Given the description of an element on the screen output the (x, y) to click on. 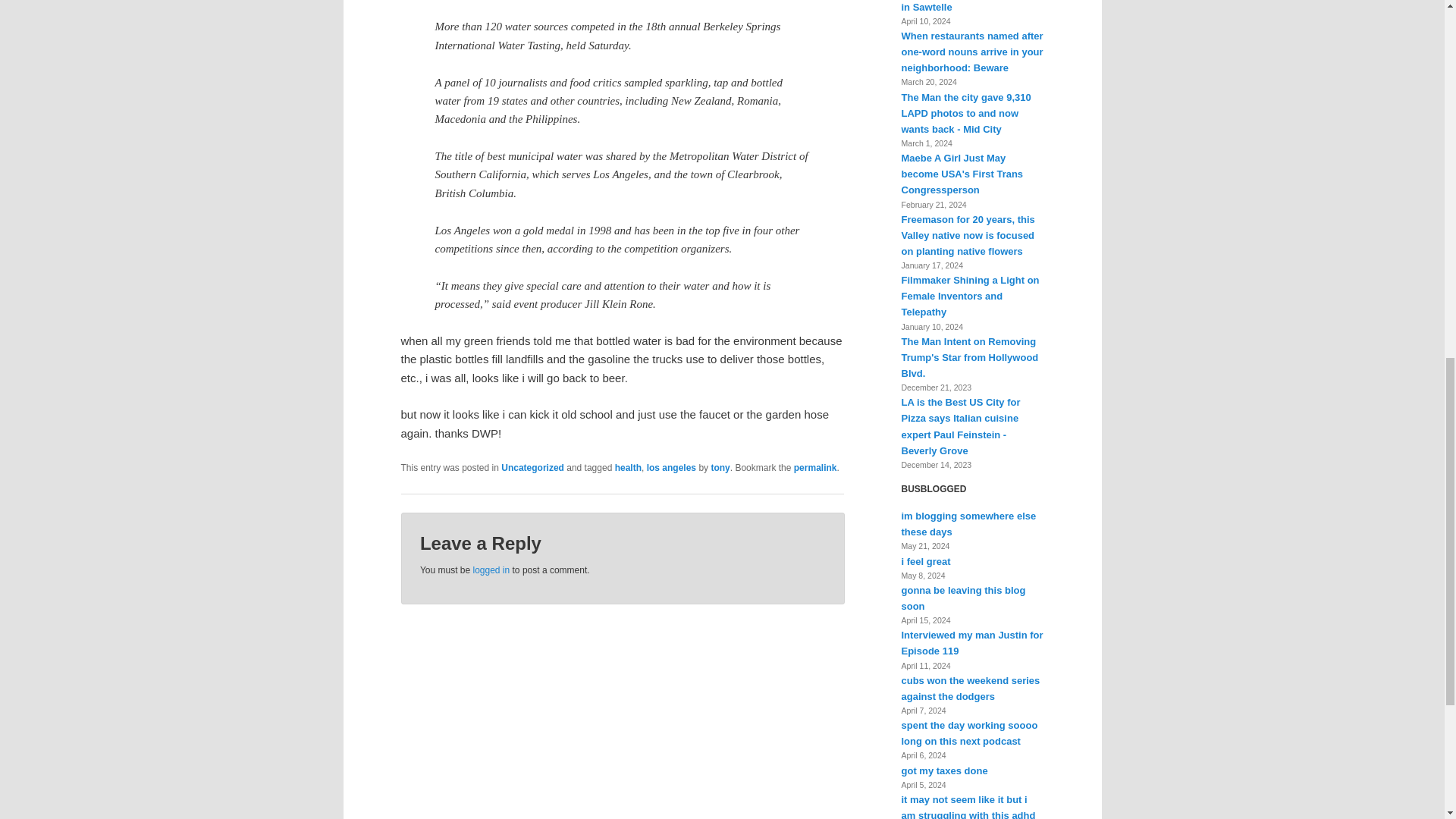
Permalink to cancel my Arrowhead subscription! (815, 467)
Uncategorized (532, 467)
los angeles (670, 467)
tony (719, 467)
logged in (490, 570)
health (628, 467)
permalink (815, 467)
